Given the description of an element on the screen output the (x, y) to click on. 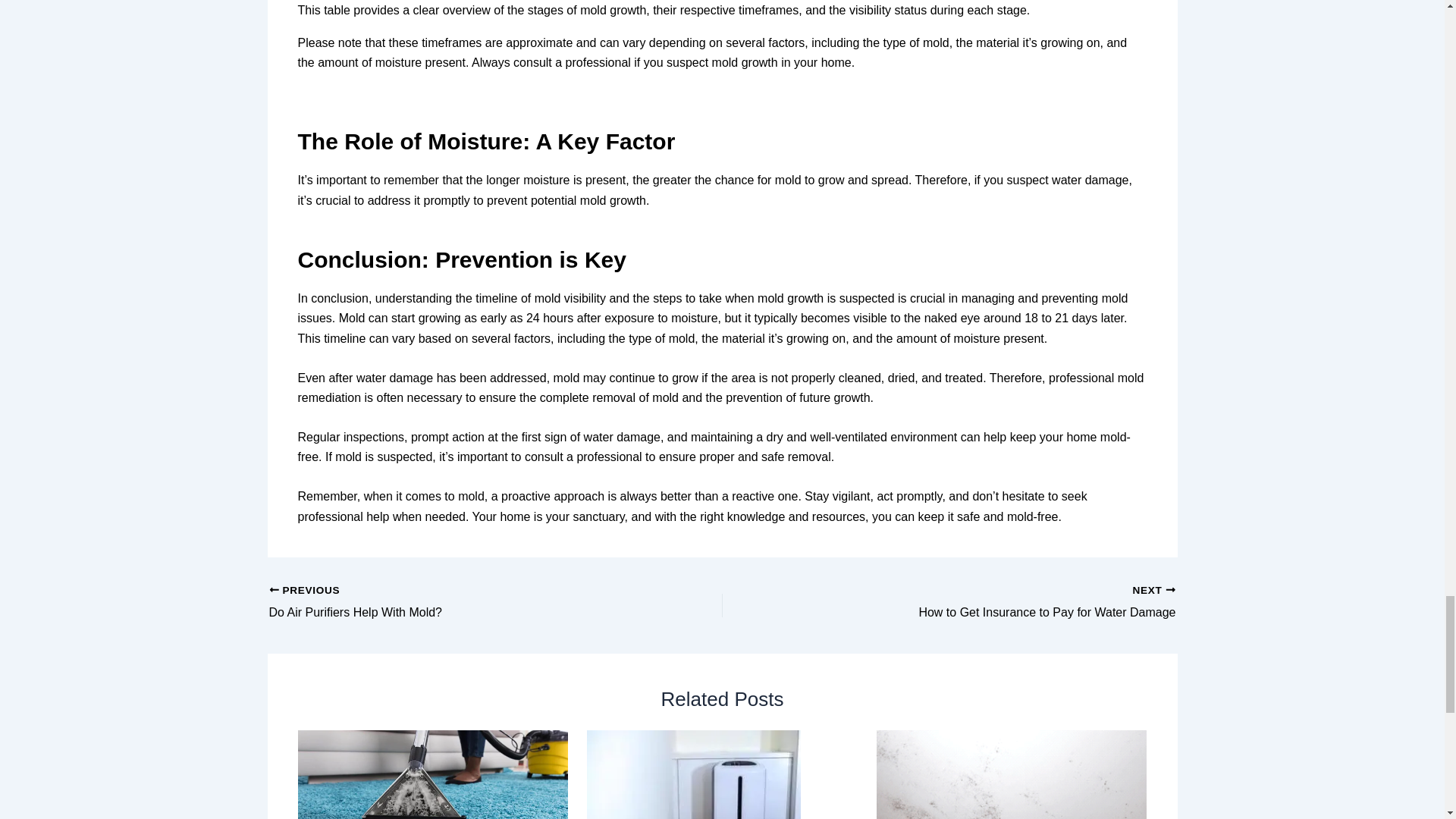
Do Air Purifiers Help With Mold? (449, 602)
How to Get Insurance to Pay for Water Damage (992, 602)
